Given the description of an element on the screen output the (x, y) to click on. 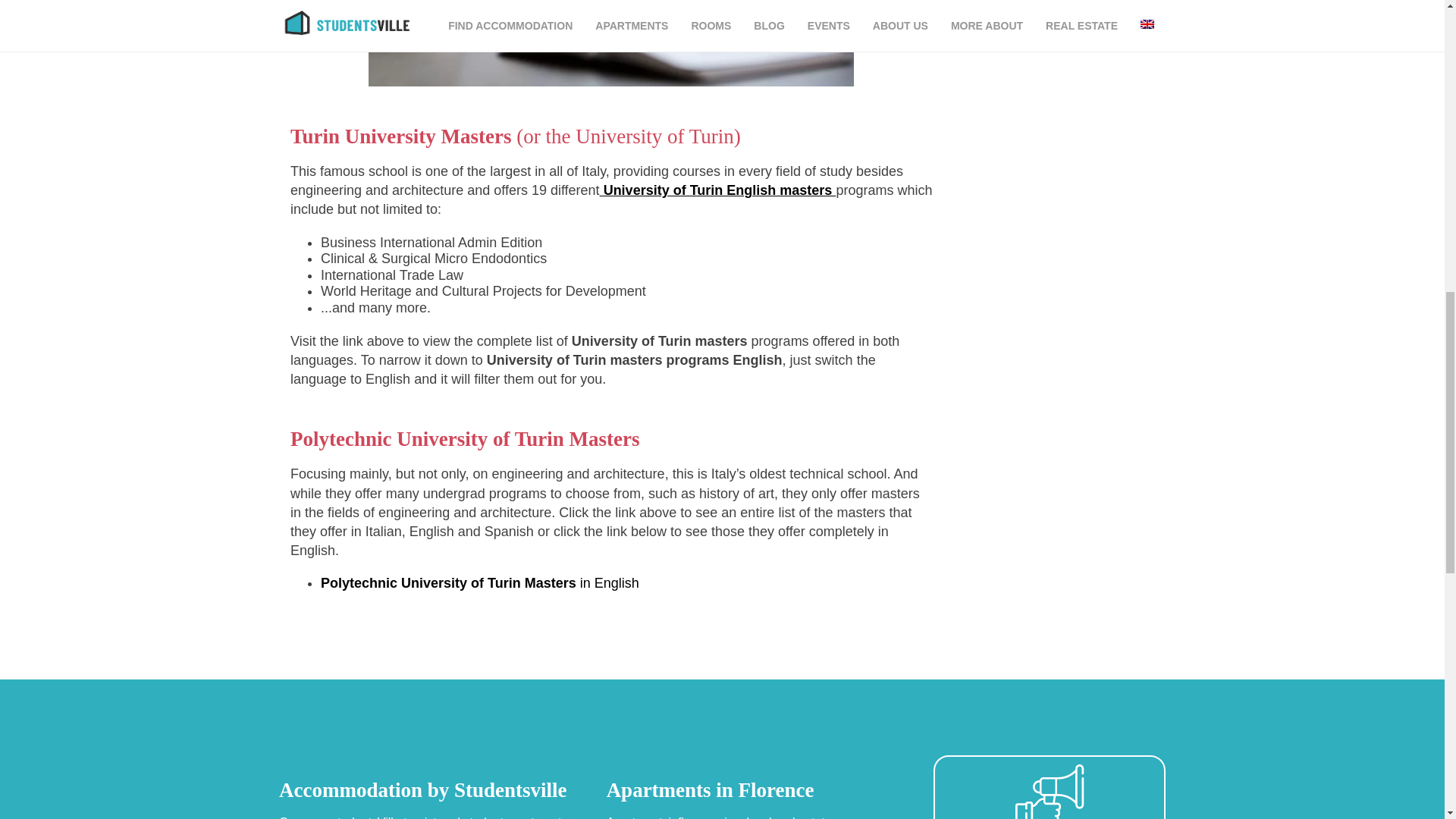
Turin Masters (610, 43)
